Given the description of an element on the screen output the (x, y) to click on. 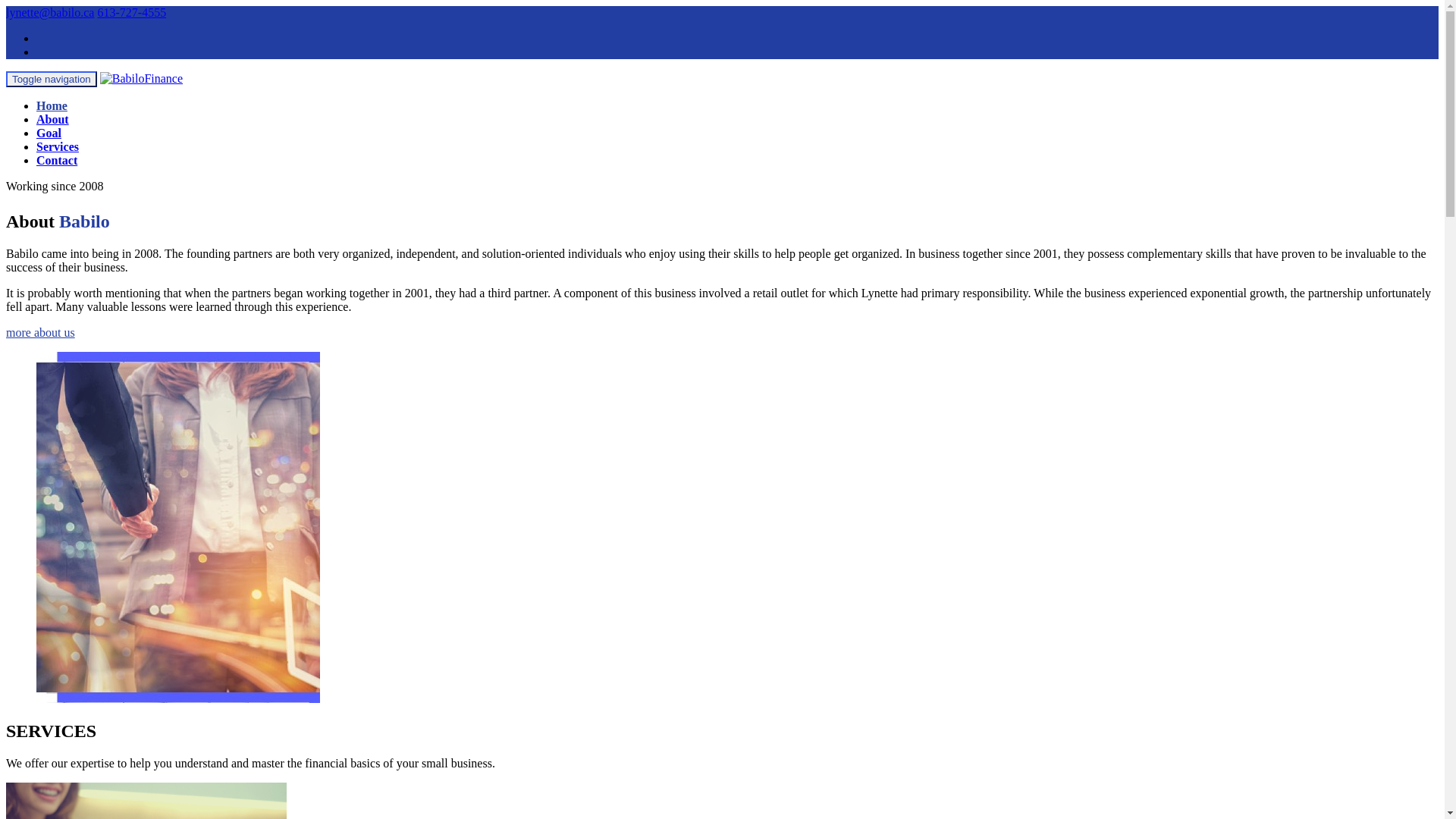
Accounting help for your small business Element type: hover (141, 78)
613-727-4555 Element type: text (131, 12)
Goal Element type: text (48, 132)
Contact Element type: text (56, 159)
About Element type: text (52, 118)
more about us Element type: text (40, 332)
Services Element type: text (57, 146)
lynette@babilo.ca Element type: text (50, 12)
Home Element type: text (51, 105)
Toggle navigation Element type: text (51, 79)
